Given the description of an element on the screen output the (x, y) to click on. 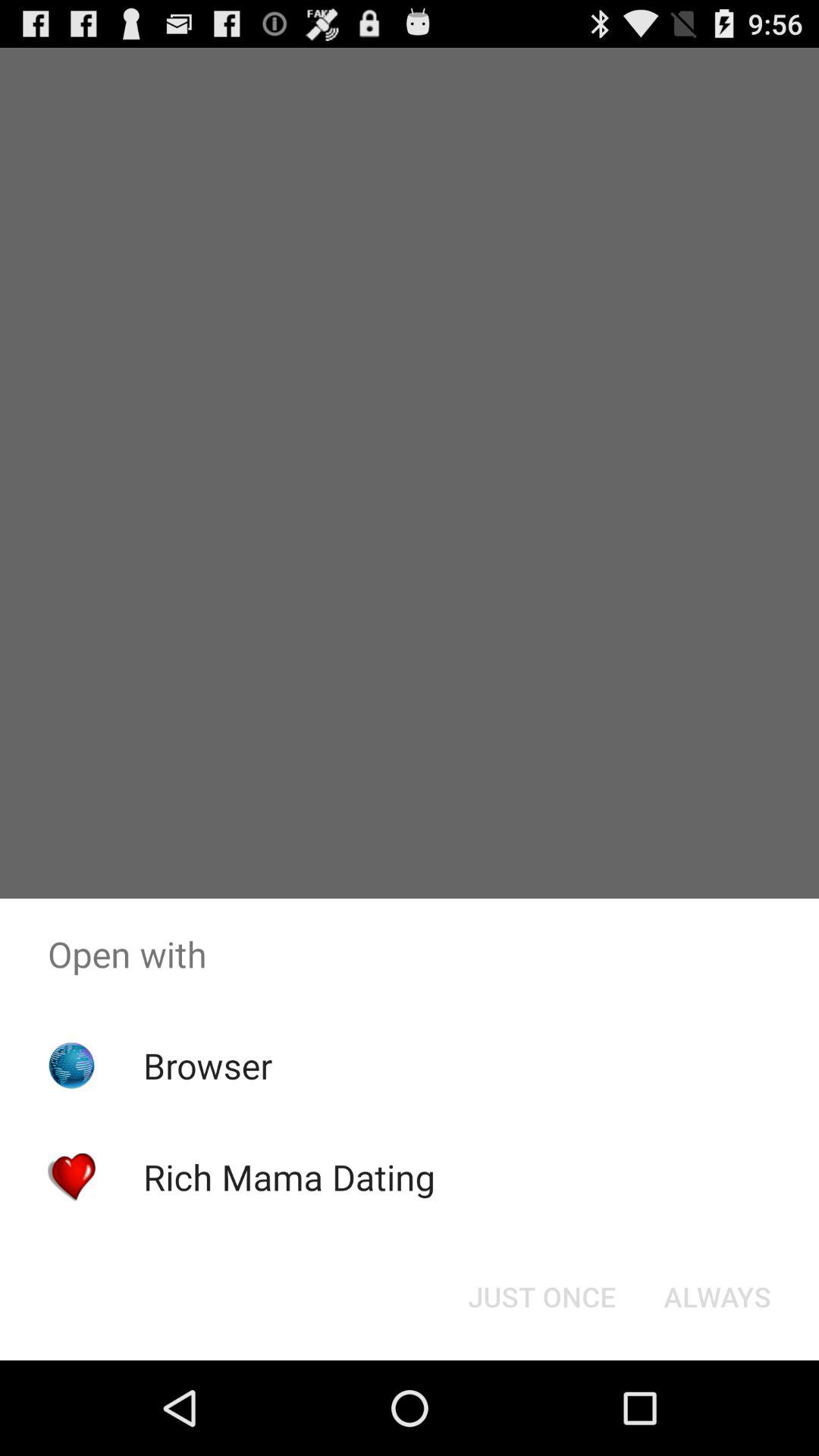
launch the button next to always (541, 1296)
